Given the description of an element on the screen output the (x, y) to click on. 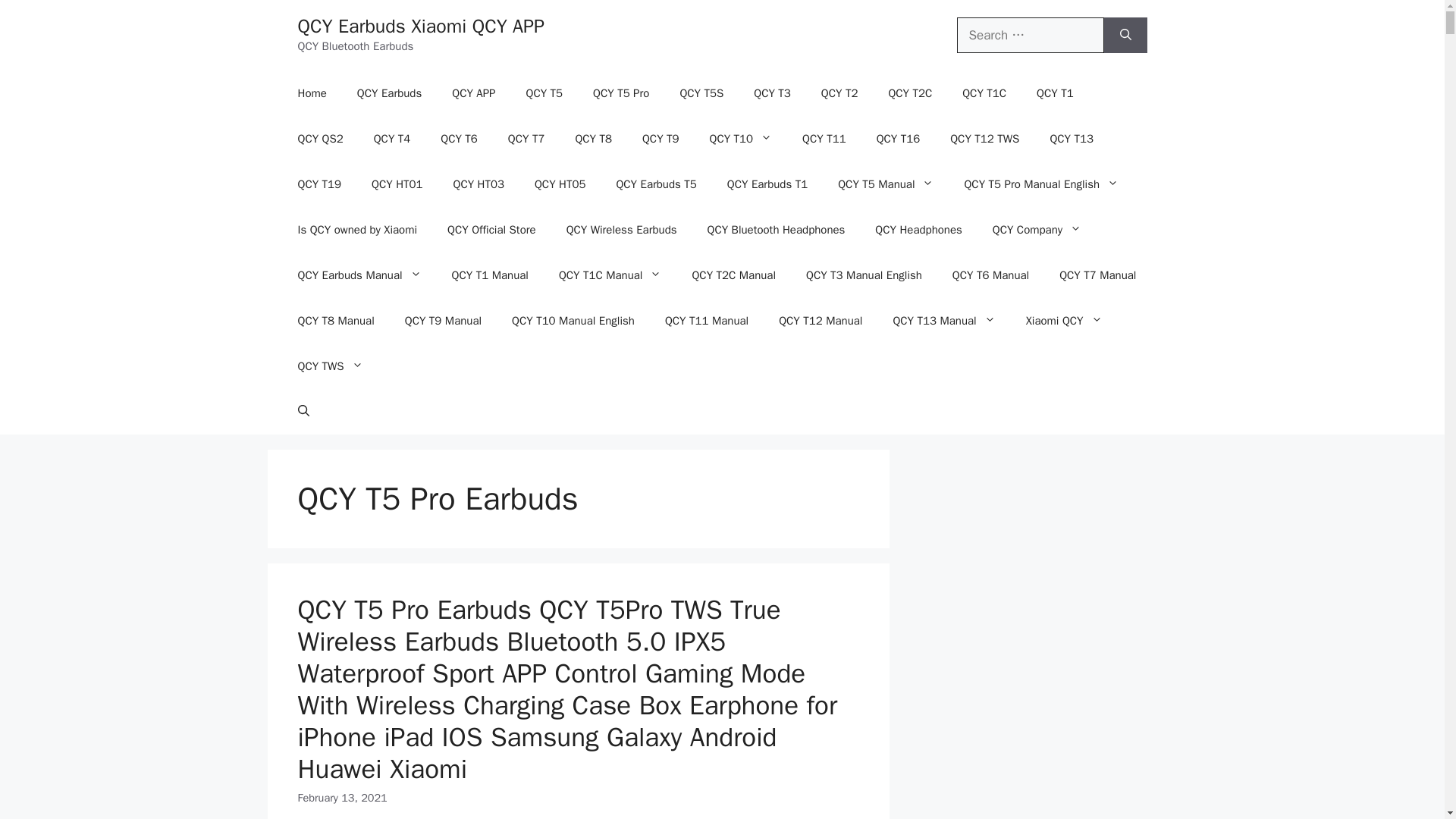
QCY T5 Manual (885, 183)
QCY T8 (593, 137)
QCY HT03 (478, 183)
QCY Earbuds T1 (766, 183)
QCY T7 (526, 137)
QCY T1C (984, 92)
QCY HT01 (397, 183)
QCY T9 (660, 137)
QCY Earbuds Xiaomi QCY APP (420, 25)
QCY T13 (1070, 137)
